Given the description of an element on the screen output the (x, y) to click on. 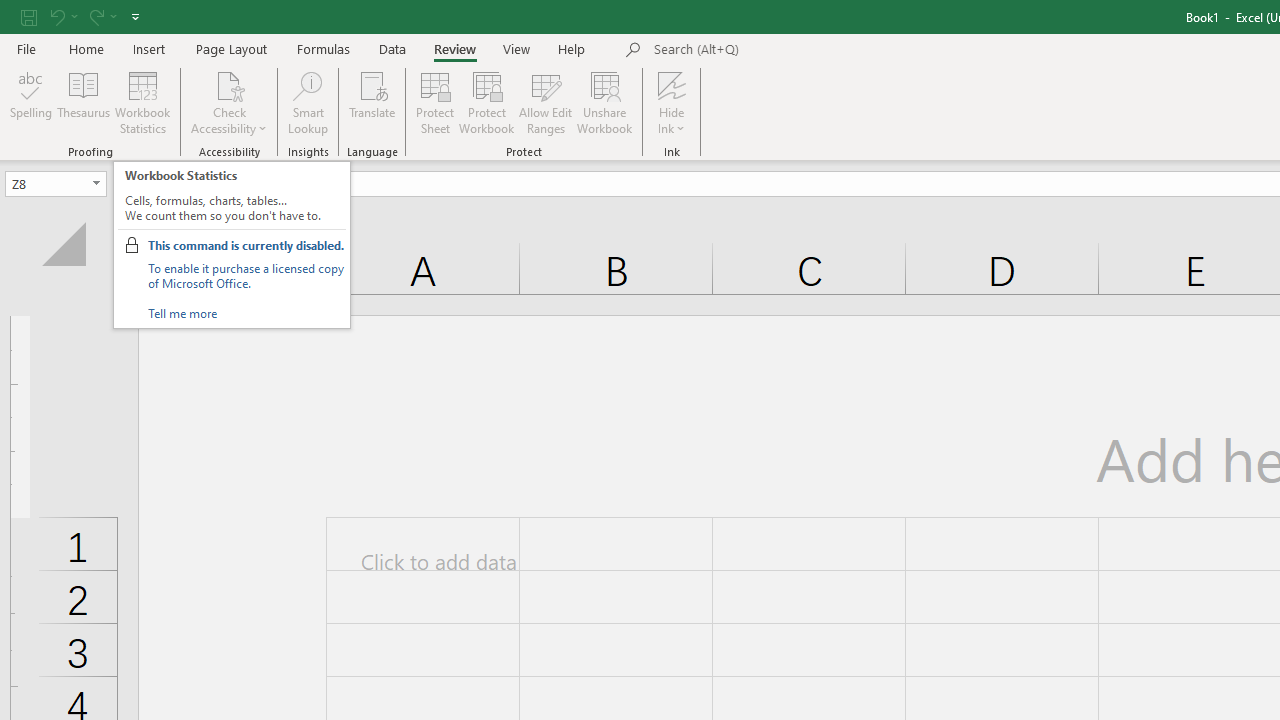
Protect Workbook... (486, 102)
